Given the description of an element on the screen output the (x, y) to click on. 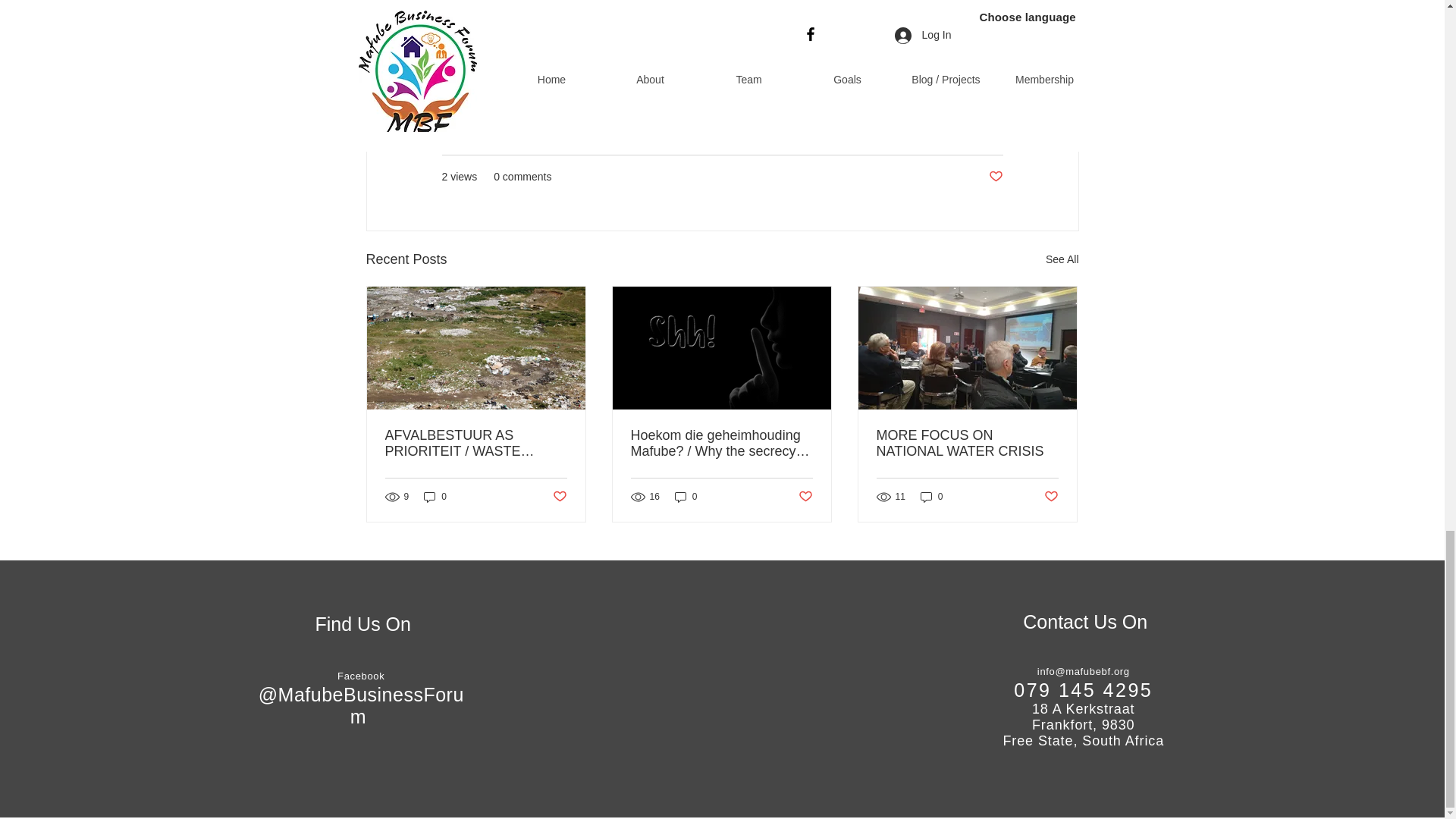
0 (685, 496)
Post not marked as liked (558, 496)
MORE FOCUS ON NATIONAL WATER CRISIS (967, 443)
Post not marked as liked (804, 496)
0 (435, 496)
Post not marked as liked (995, 176)
www.mafubebf.org (497, 18)
Post not marked as liked (1050, 496)
0 (931, 496)
See All (1061, 259)
